Given the description of an element on the screen output the (x, y) to click on. 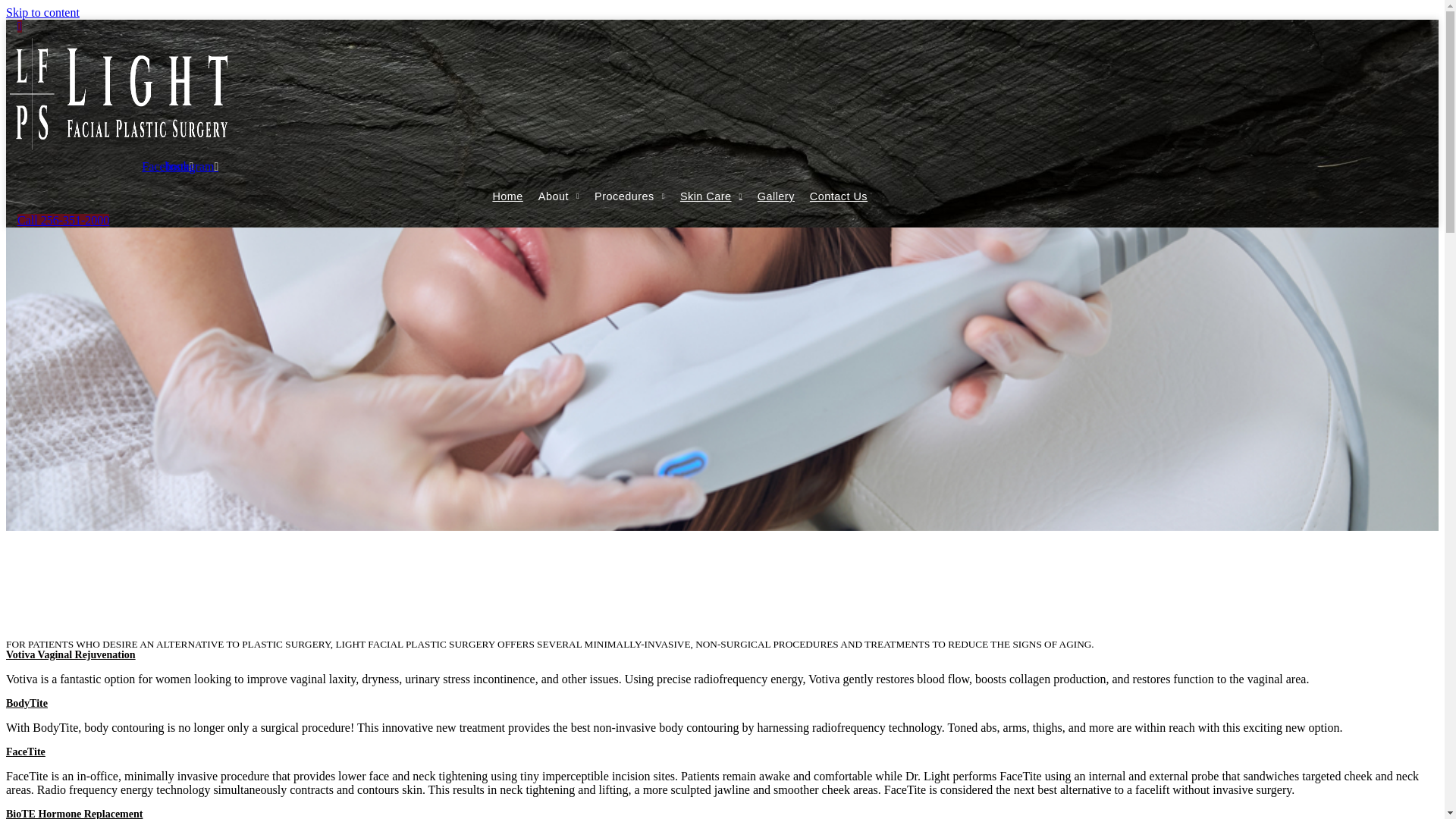
Procedures (629, 196)
Instagram (191, 166)
Home (506, 196)
About (558, 196)
Skip to content (42, 11)
Facebook (167, 166)
